Given the description of an element on the screen output the (x, y) to click on. 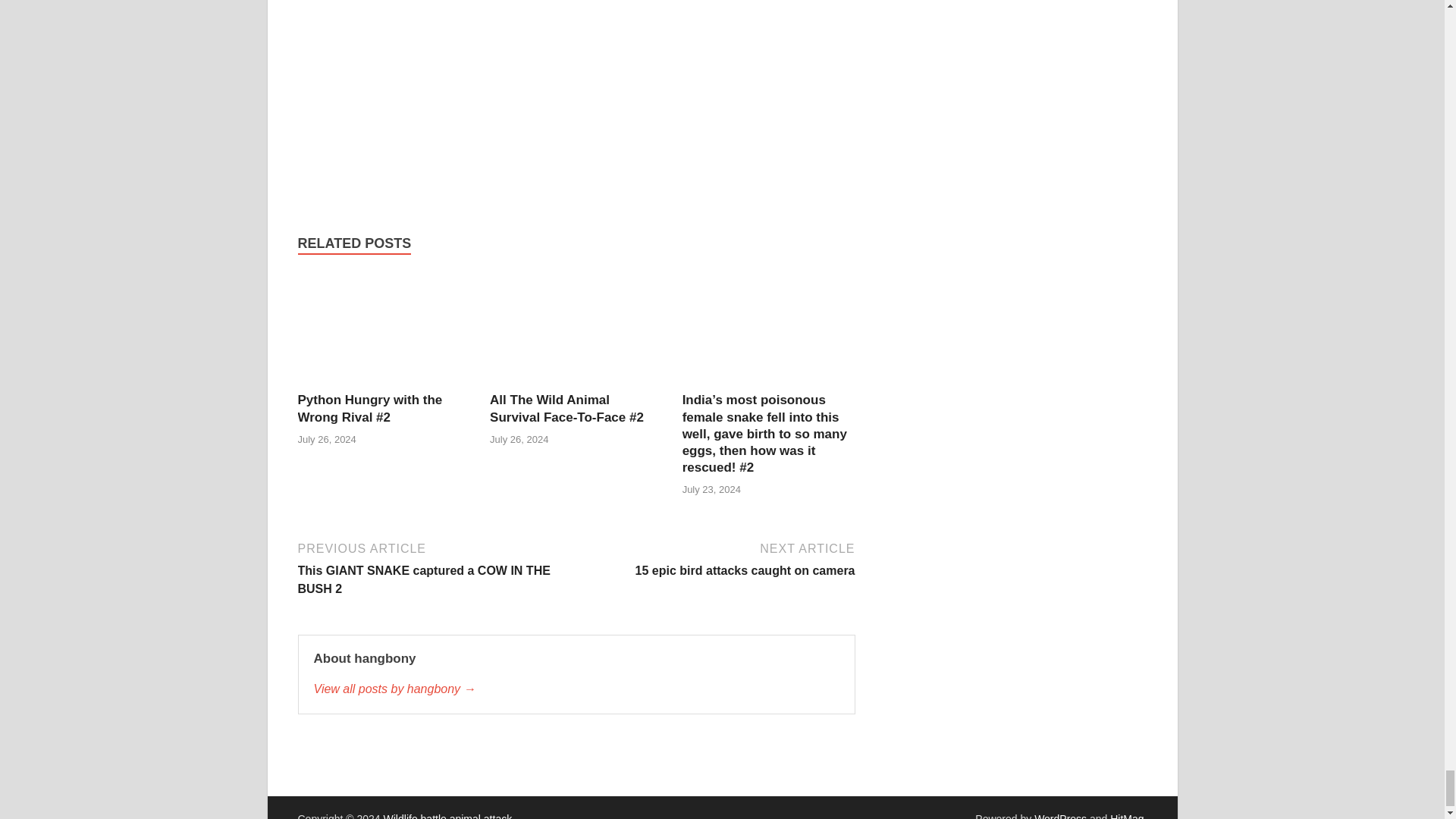
YouTube video player (509, 87)
hangbony (577, 689)
